Given the description of an element on the screen output the (x, y) to click on. 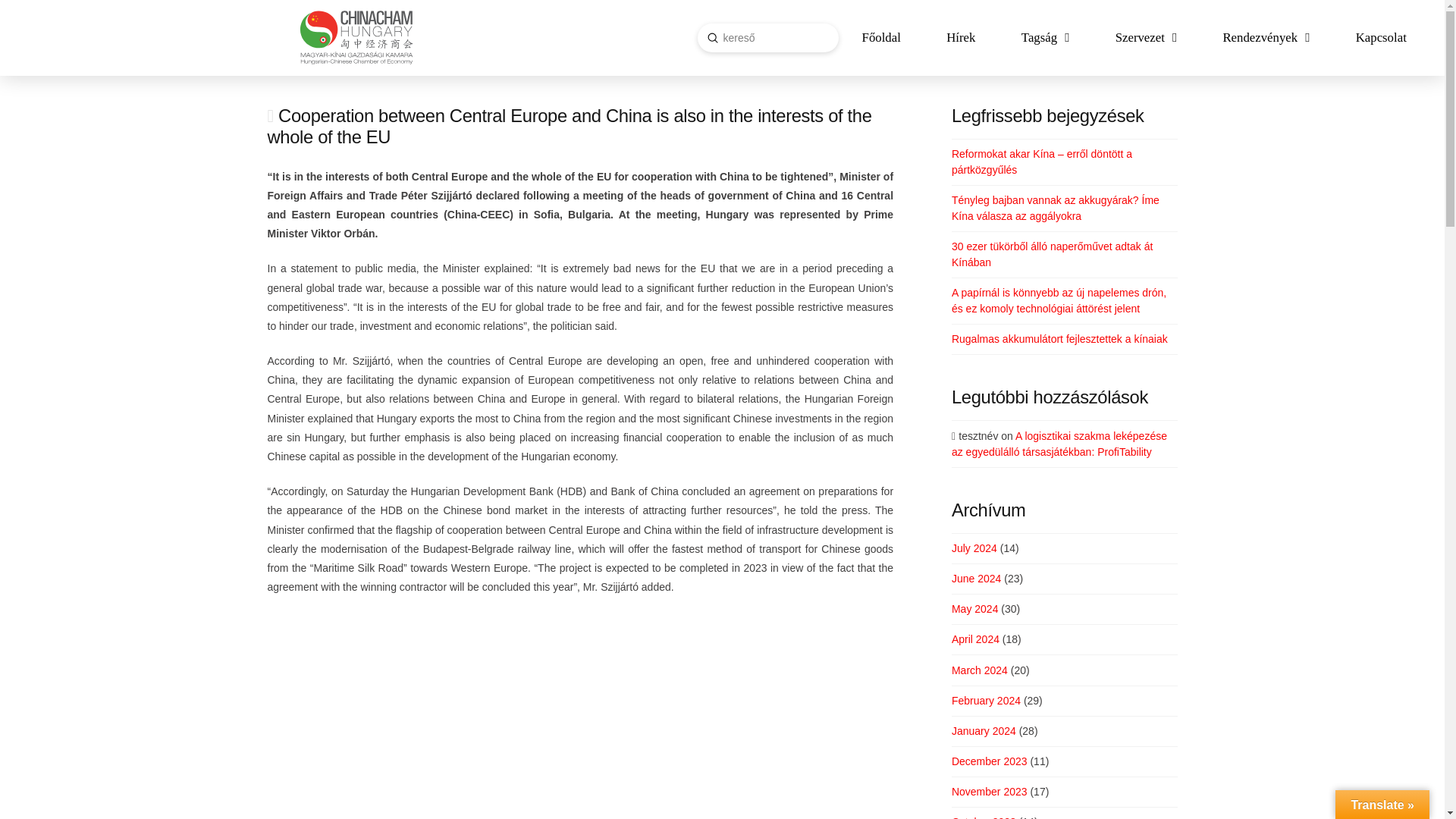
March 2024 (979, 670)
December 2023 (989, 761)
Submit (711, 37)
April 2024 (975, 639)
January 2024 (984, 730)
Szervezet (1145, 37)
May 2024 (974, 608)
June 2024 (976, 578)
February 2024 (986, 700)
July 2024 (974, 548)
Kapcsolat (1381, 37)
October 2023 (984, 817)
November 2023 (989, 791)
